Given the description of an element on the screen output the (x, y) to click on. 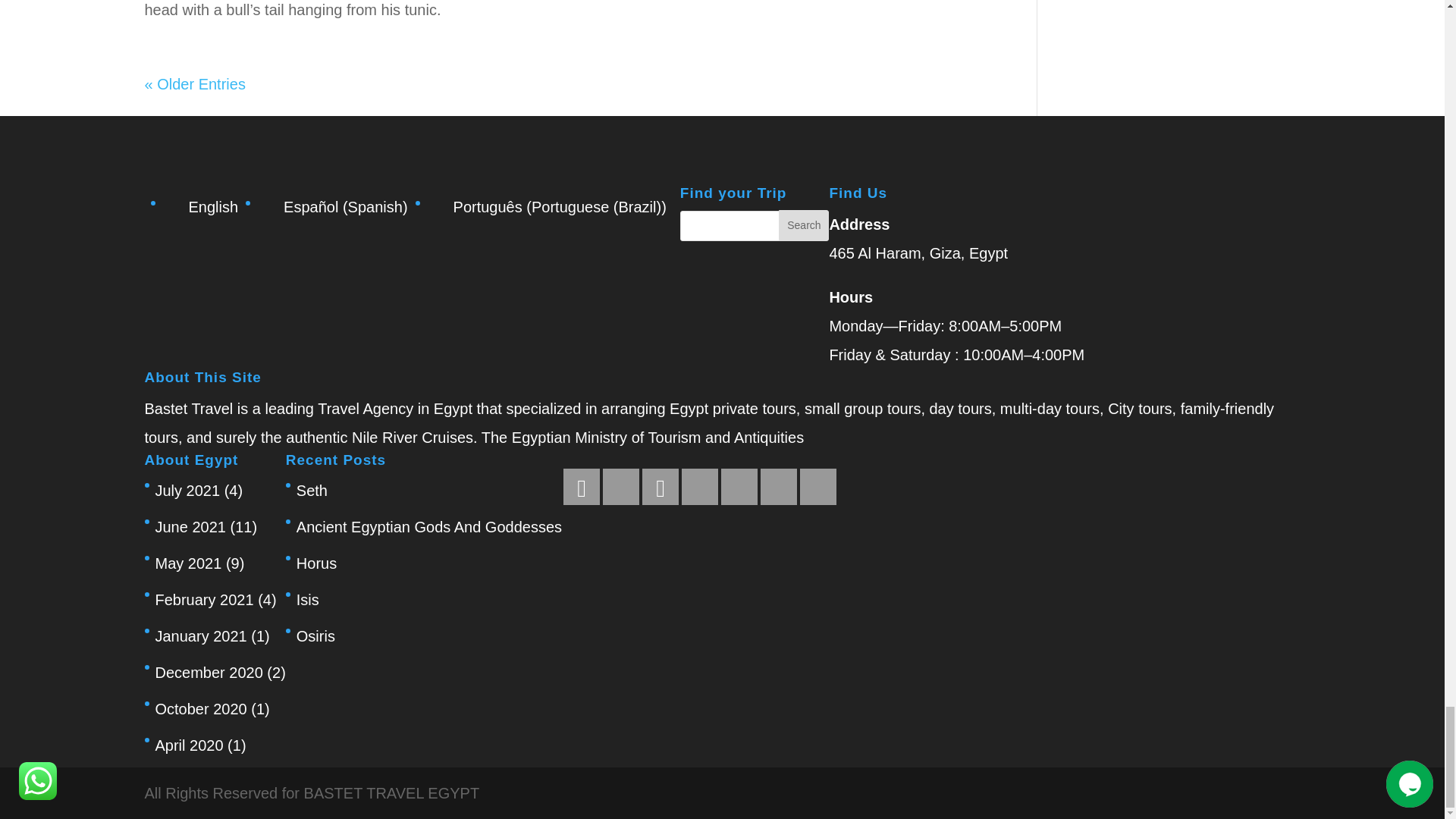
facebook (581, 488)
twitter (620, 486)
instagram (699, 486)
linkedin (660, 488)
linkedin (660, 486)
facebook (581, 486)
Search (803, 224)
